Given the description of an element on the screen output the (x, y) to click on. 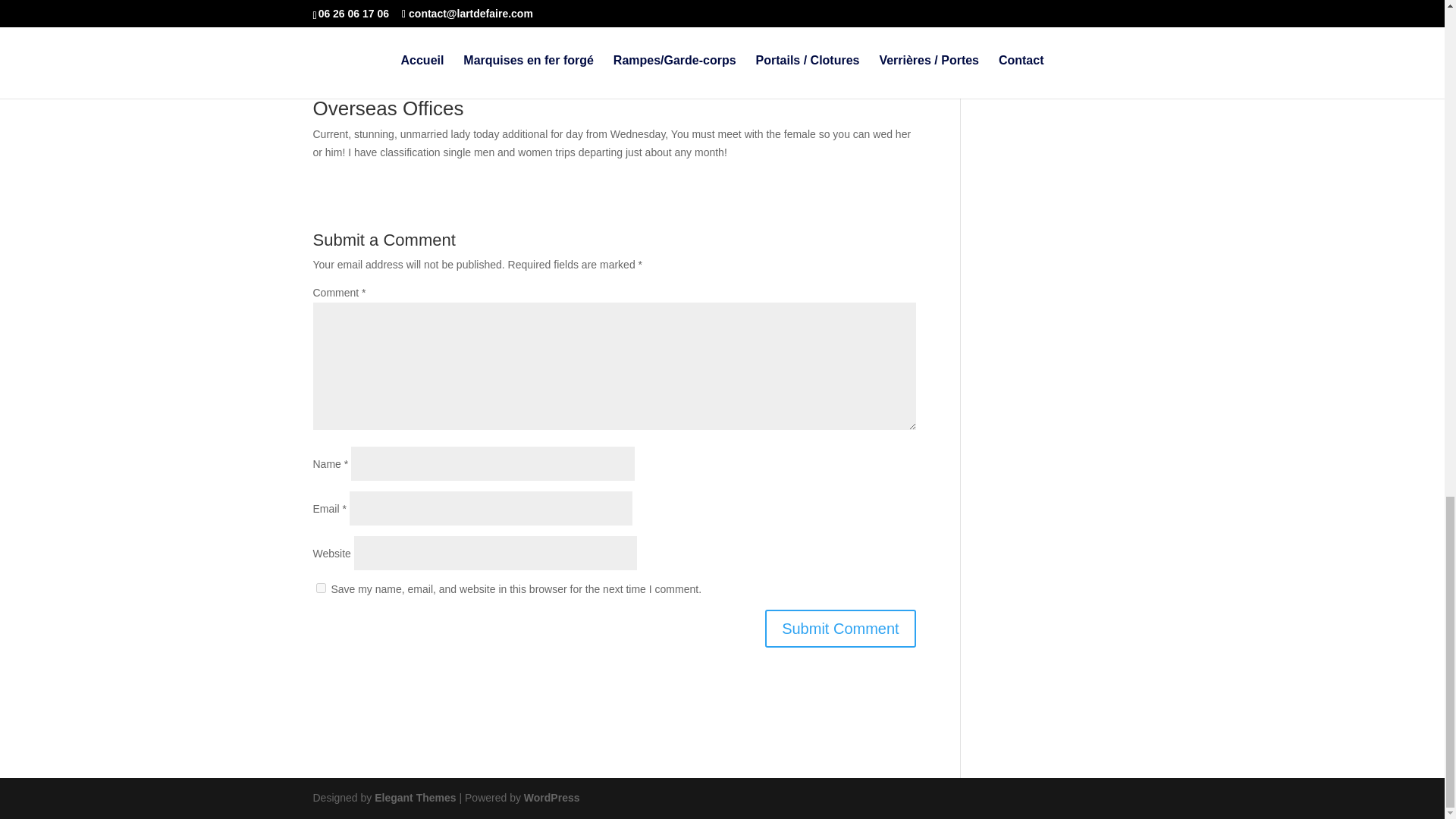
Submit Comment (840, 628)
Submit Comment (840, 628)
Premium WordPress Themes (414, 797)
WordPress (551, 797)
Elegant Themes (414, 797)
yes (319, 587)
